Given the description of an element on the screen output the (x, y) to click on. 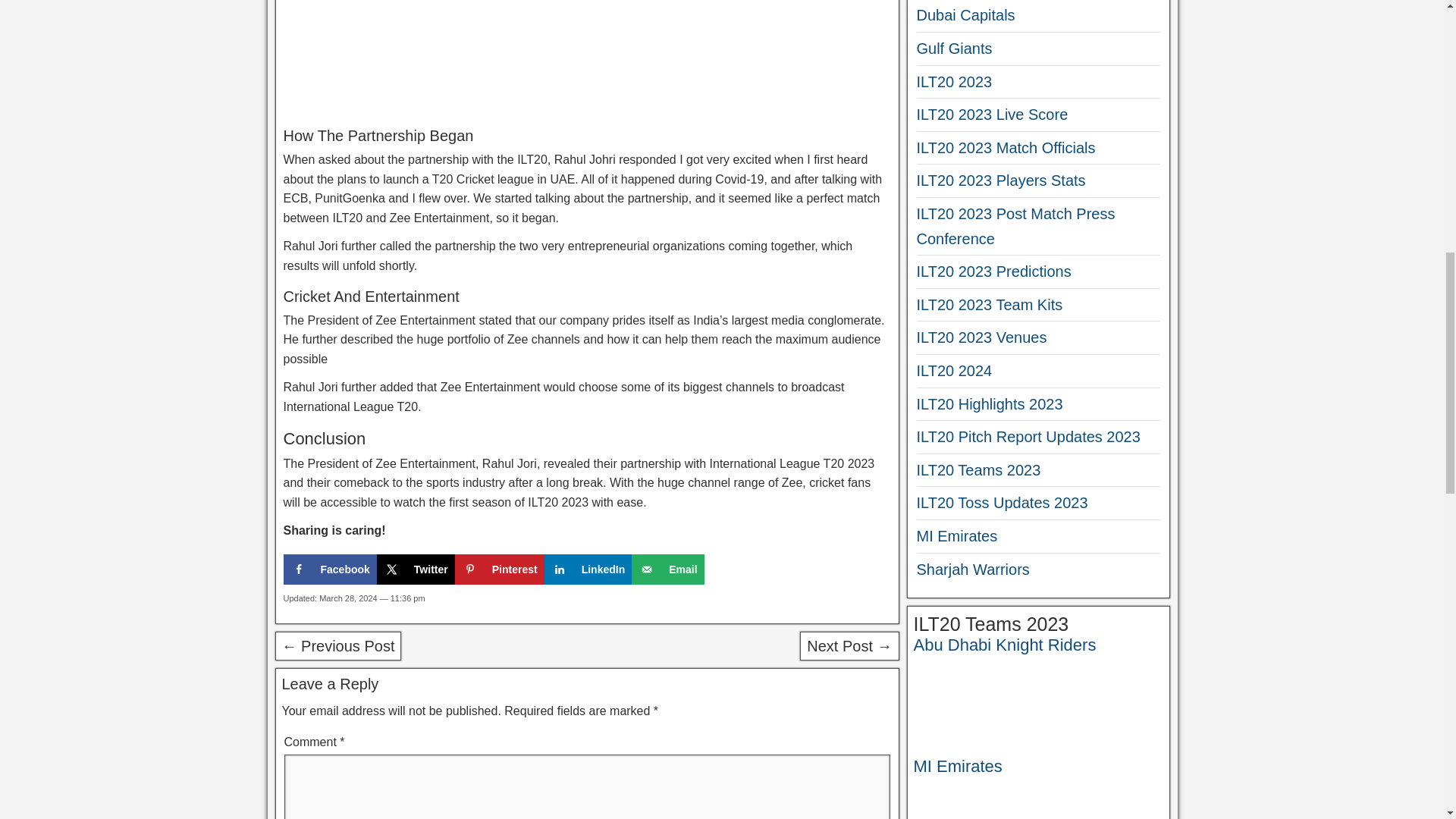
Twitter (415, 569)
Save to Pinterest (499, 569)
LinkedIn (587, 569)
Share on Facebook (330, 569)
Email (667, 569)
Share on X (415, 569)
Facebook (330, 569)
Share on LinkedIn (587, 569)
Pinterest (499, 569)
Send over email (667, 569)
